Given the description of an element on the screen output the (x, y) to click on. 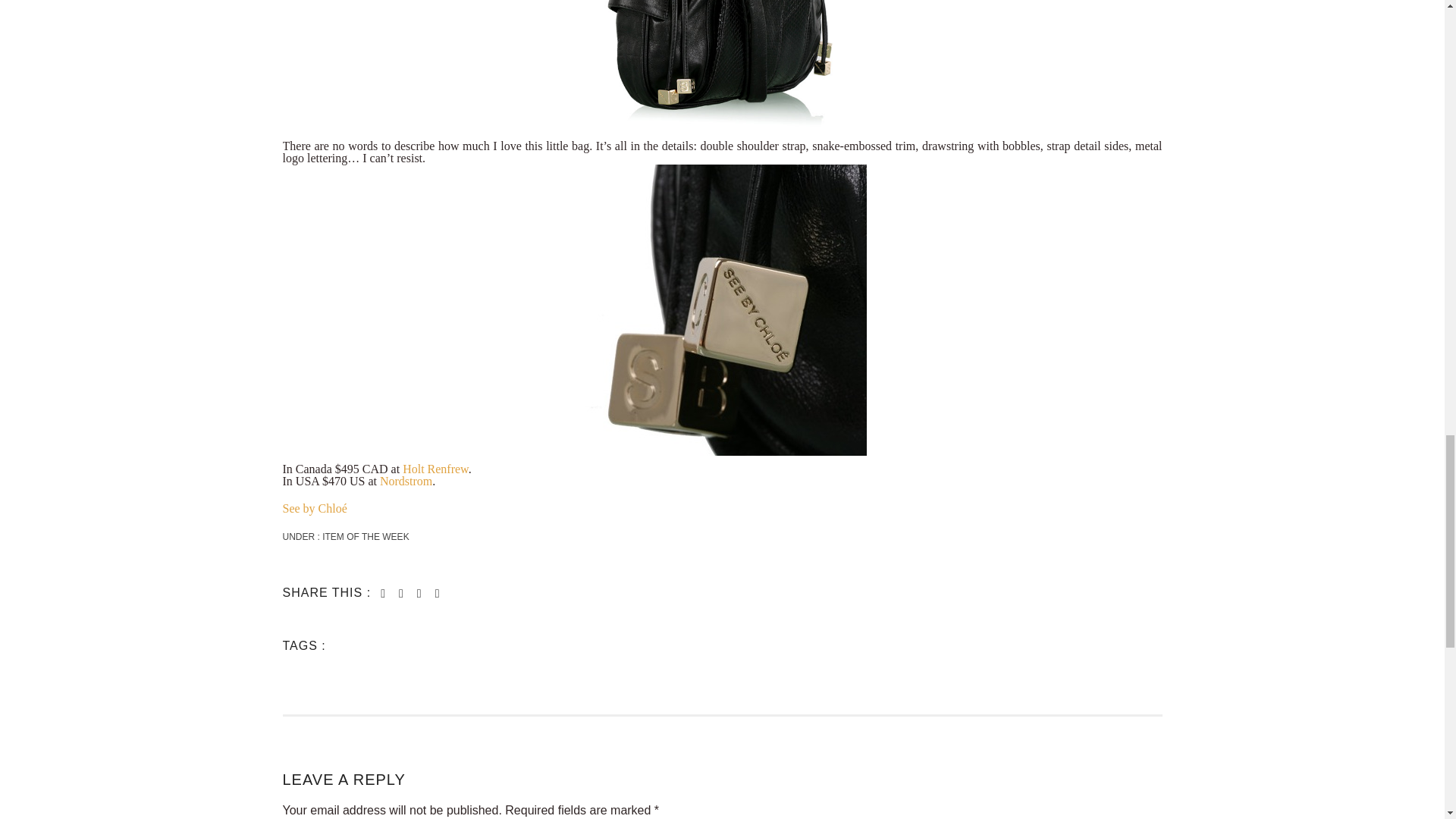
Holt Renfrew (435, 468)
Nordstrom (406, 481)
ITEM OF THE WEEK (364, 536)
View all posts in item of the week (364, 536)
